Given the description of an element on the screen output the (x, y) to click on. 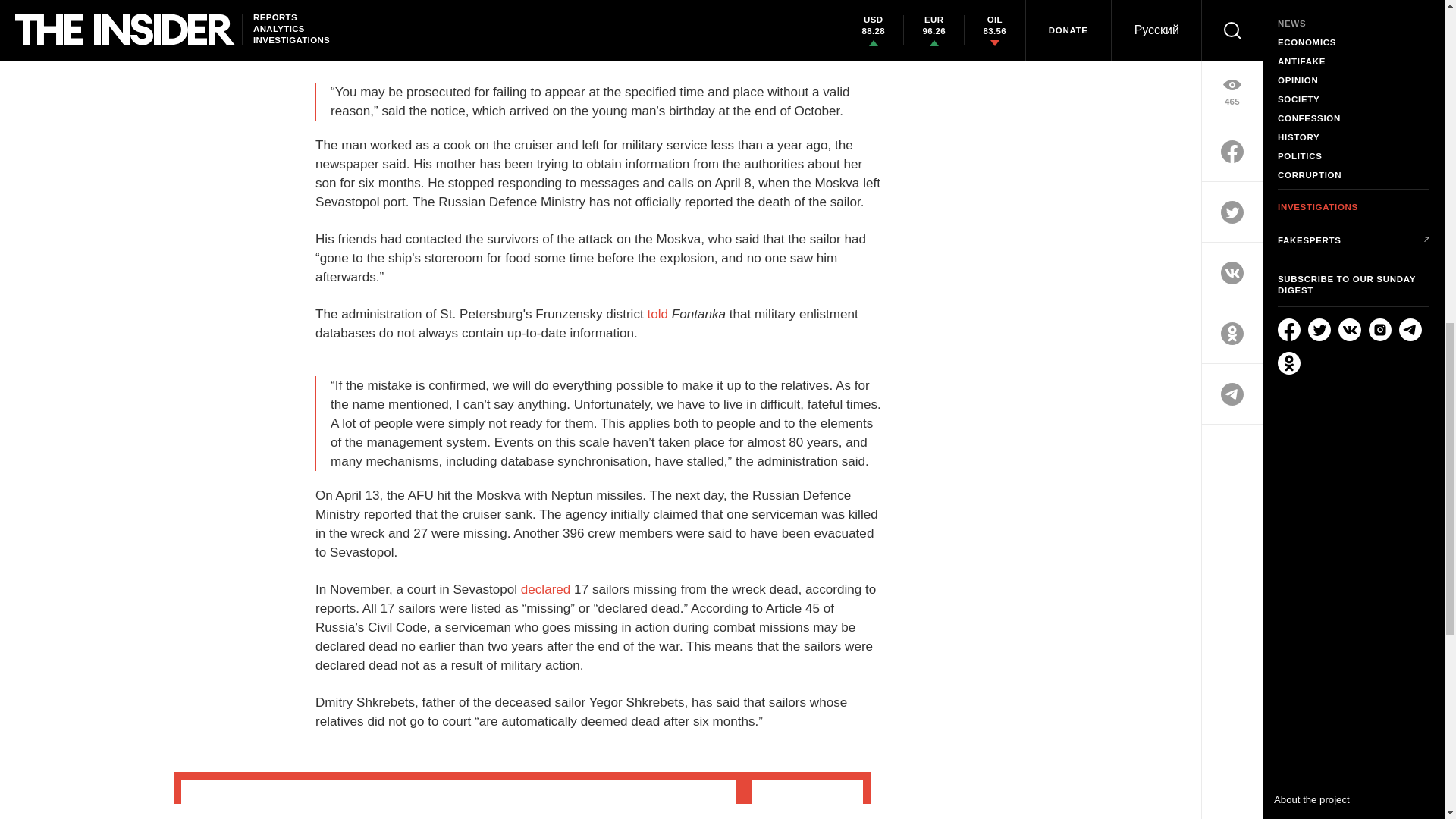
declared (545, 589)
reported (601, 20)
told (657, 314)
